Given the description of an element on the screen output the (x, y) to click on. 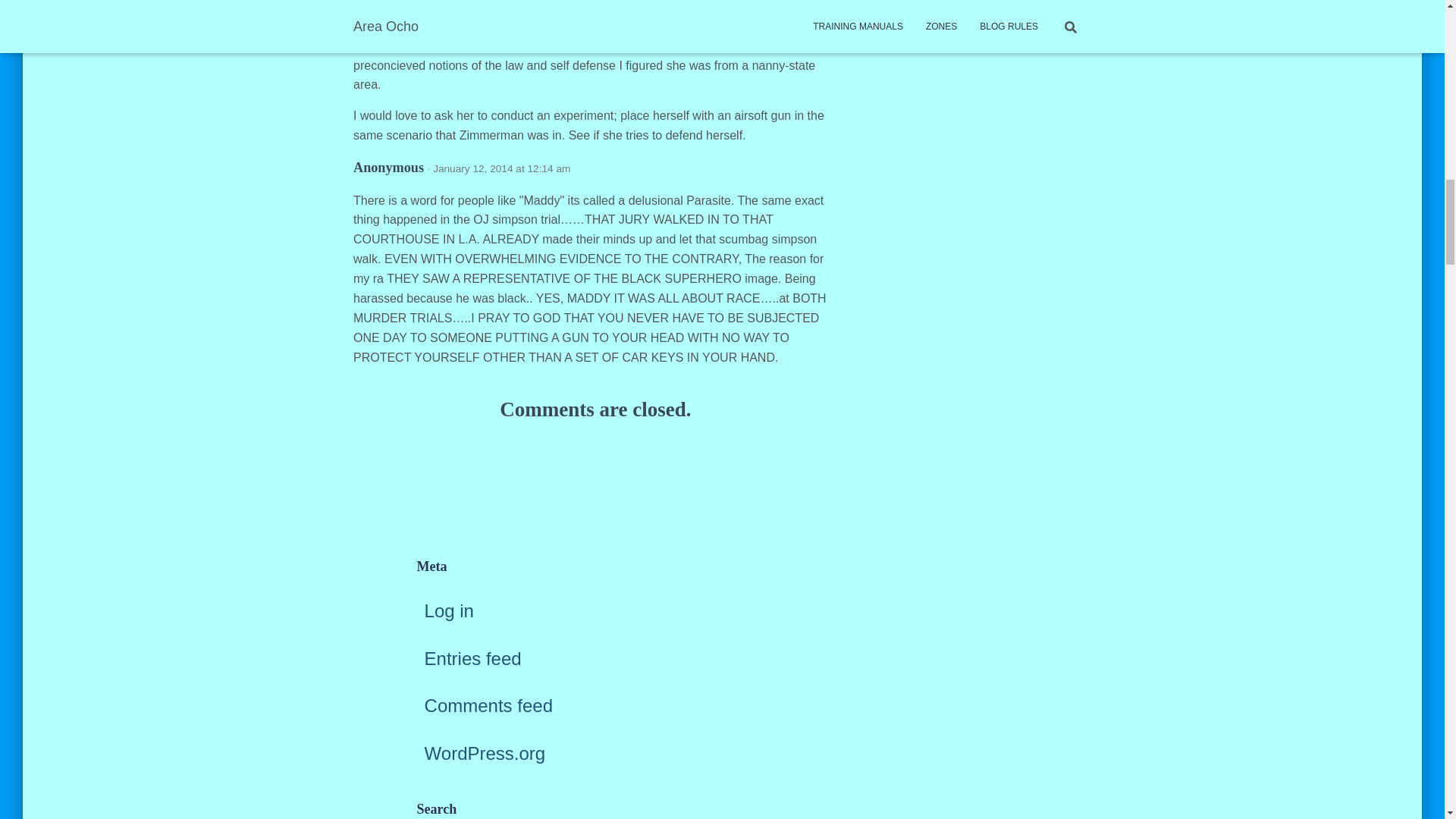
Comments feed (489, 705)
Entries feed (473, 658)
Log in (449, 610)
WordPress.org (485, 752)
